Given the description of an element on the screen output the (x, y) to click on. 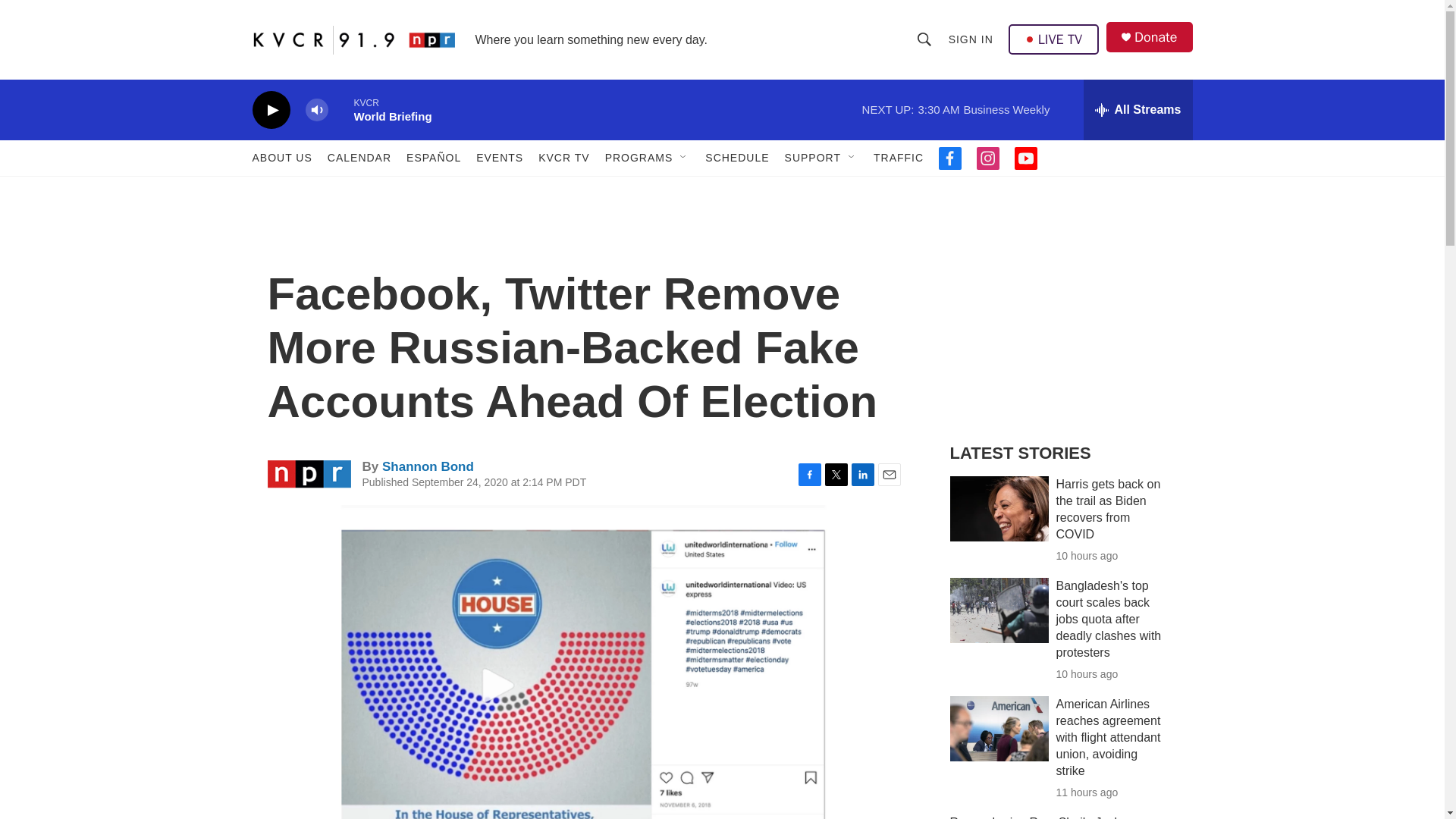
3rd party ad content (1062, 316)
